Given the description of an element on the screen output the (x, y) to click on. 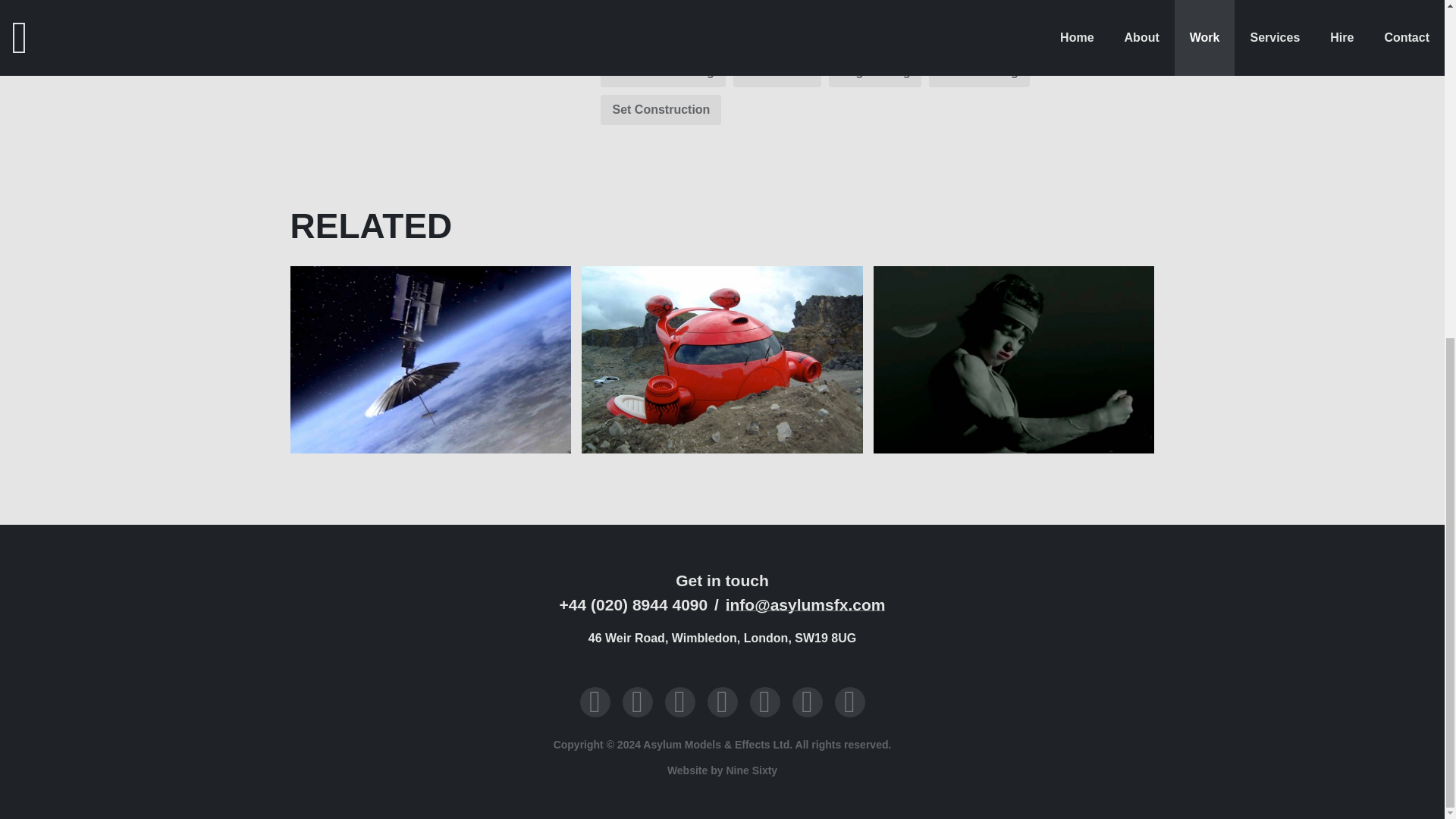
Electronics (777, 71)
Film (623, 7)
Modelmaking (978, 71)
Engineering (874, 71)
Set Construction (659, 110)
Nine Sixty (751, 770)
